Given the description of an element on the screen output the (x, y) to click on. 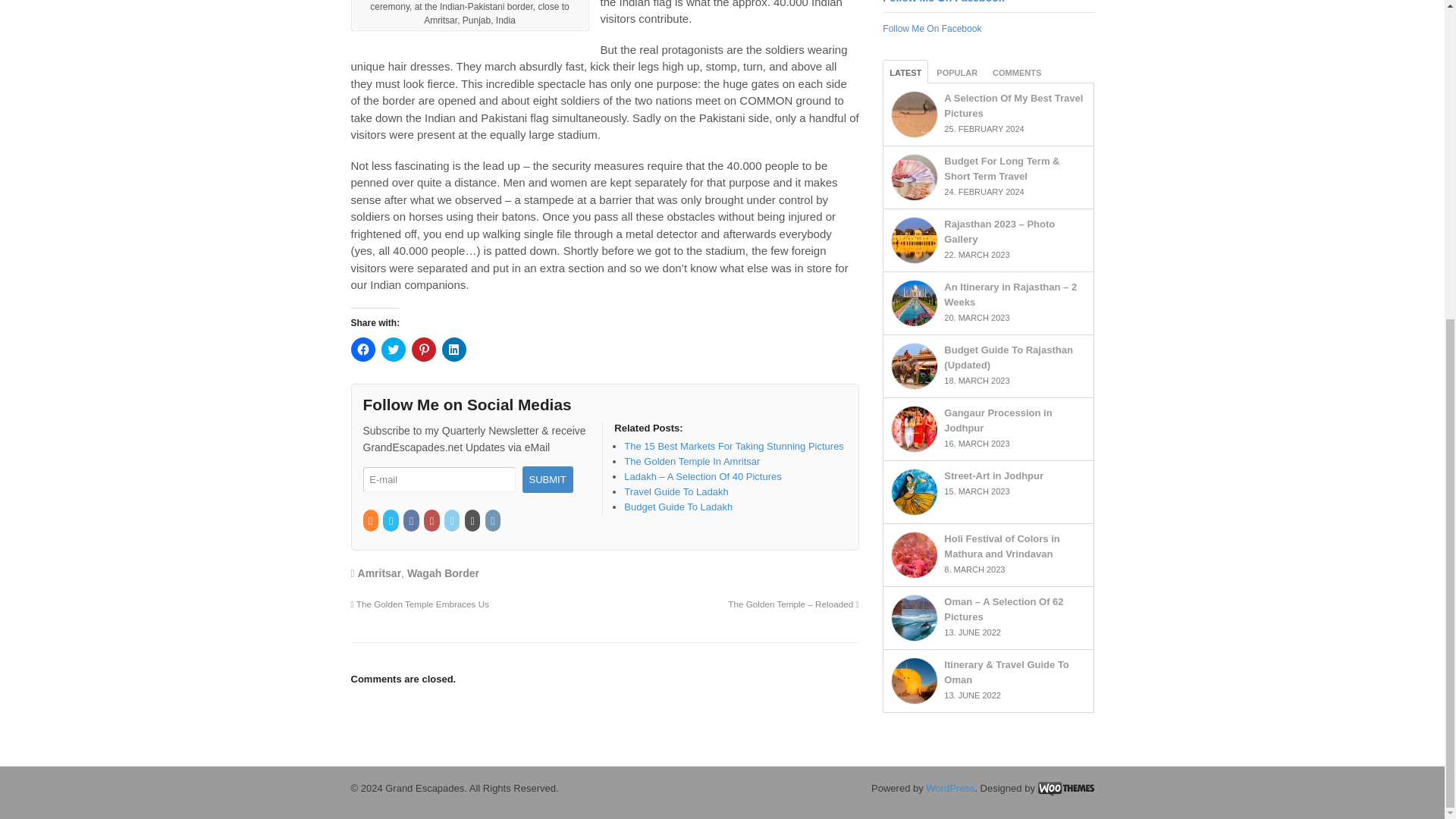
Click to share on Facebook (362, 349)
Click to share on Twitter (392, 349)
Click to share on Pinterest (422, 349)
Submit (546, 479)
Click to share on LinkedIn (453, 349)
E-mail (438, 479)
